Given the description of an element on the screen output the (x, y) to click on. 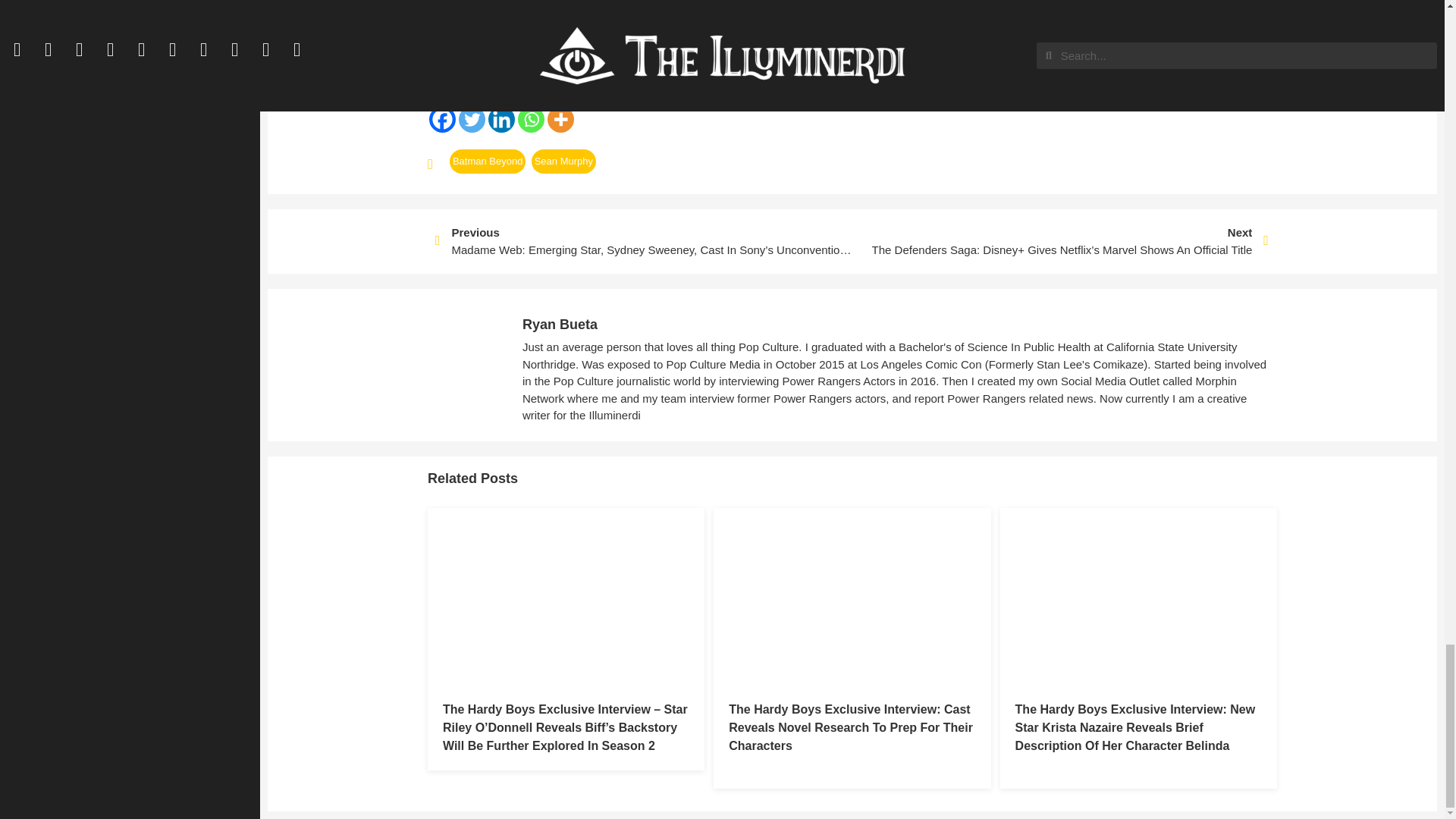
Linkedin (501, 119)
Facebook (442, 119)
Whatsapp (531, 119)
Twitter (471, 119)
More (560, 119)
